Given the description of an element on the screen output the (x, y) to click on. 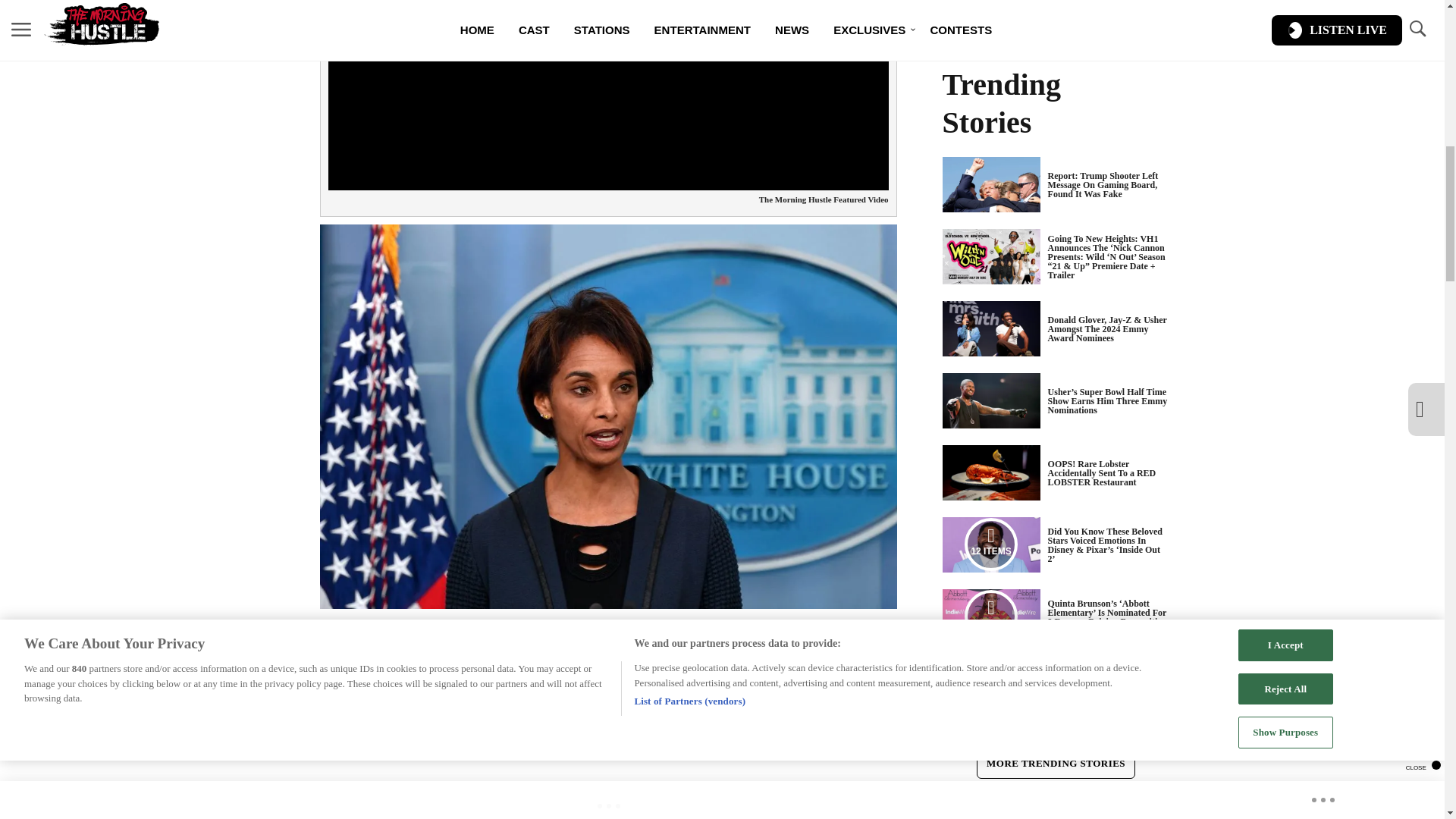
Media Playlist (990, 615)
released a statement (545, 693)
Media Playlist (990, 543)
